Given the description of an element on the screen output the (x, y) to click on. 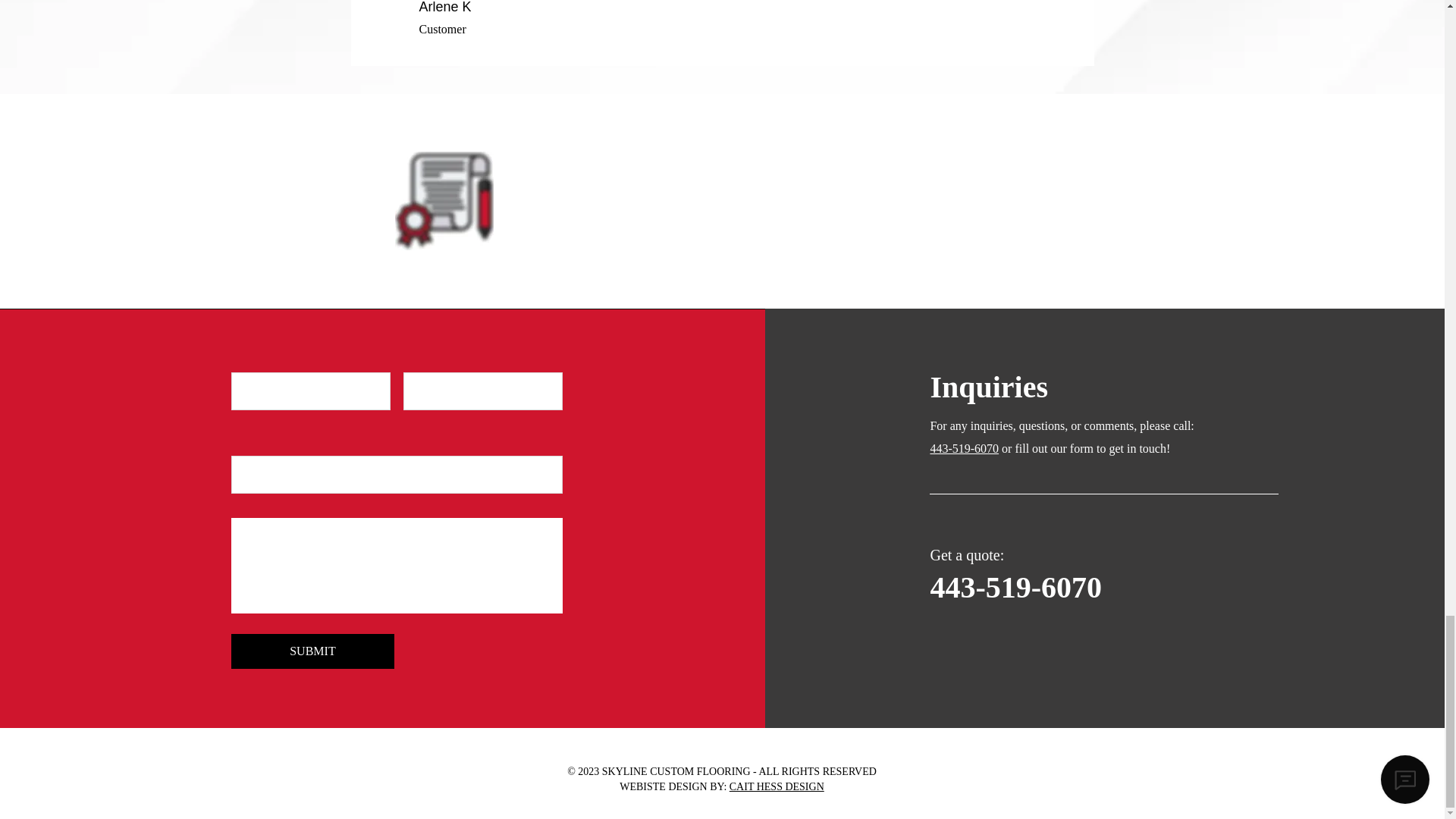
Get a quote: (967, 555)
443-519-6070 (964, 448)
SUBMIT (312, 651)
CAIT HESS DESIGN (776, 786)
443-519-6070 (1016, 587)
